Given the description of an element on the screen output the (x, y) to click on. 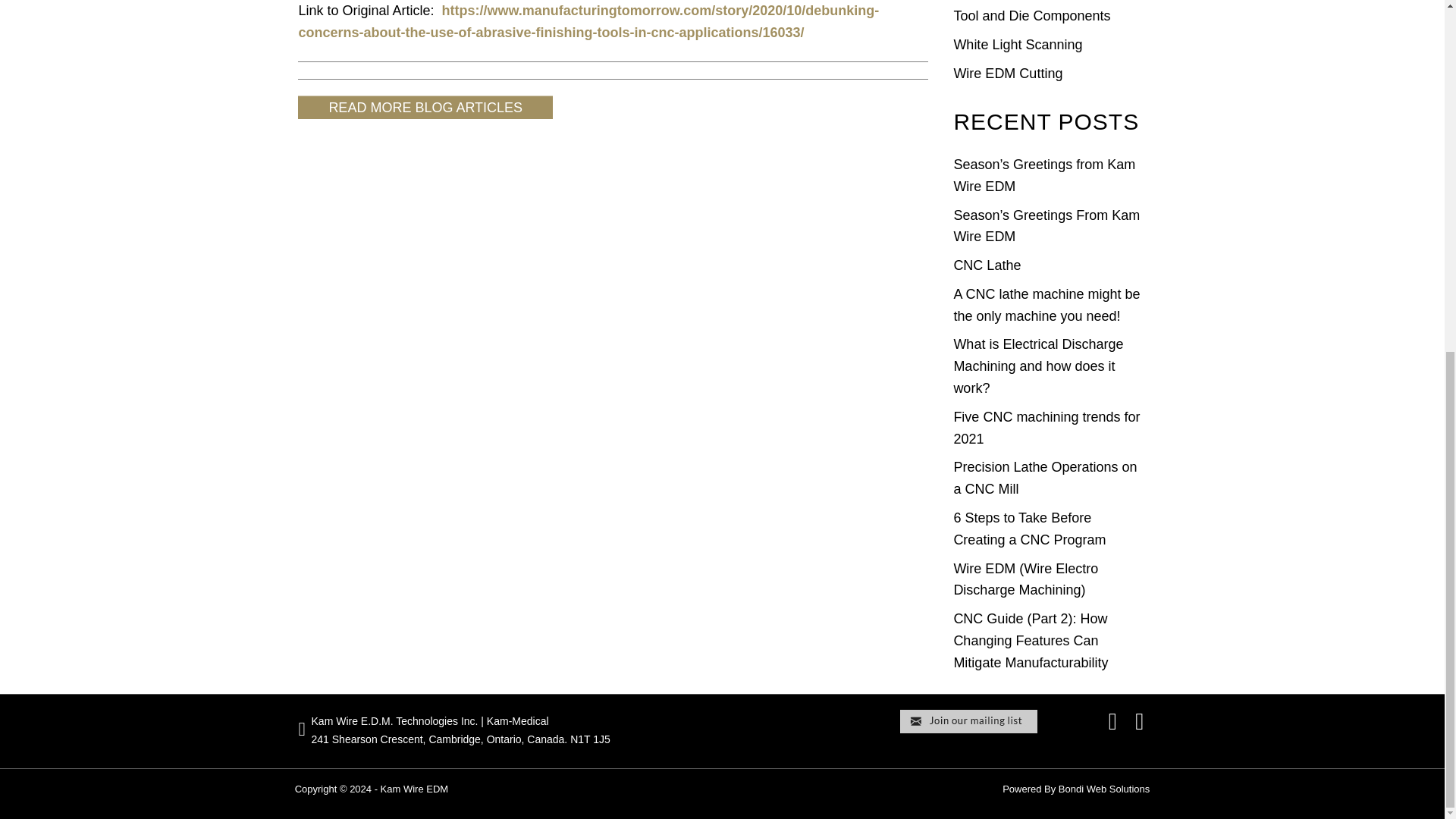
READ MORE BLOG ARTICLES (425, 106)
